Given the description of an element on the screen output the (x, y) to click on. 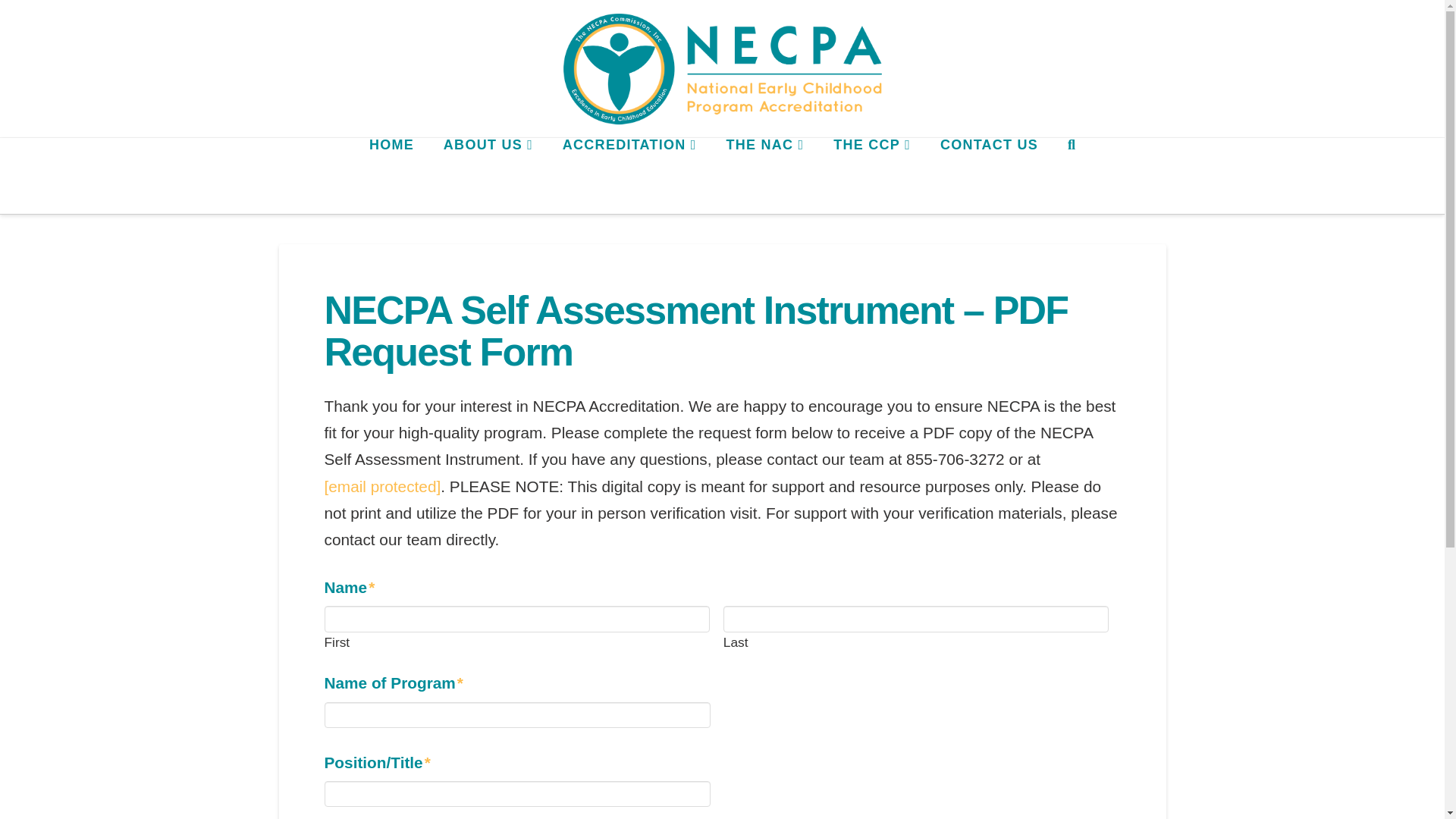
ABOUT US (487, 175)
THE NAC (764, 175)
HOME (390, 175)
ACCREDITATION (629, 175)
